Given the description of an element on the screen output the (x, y) to click on. 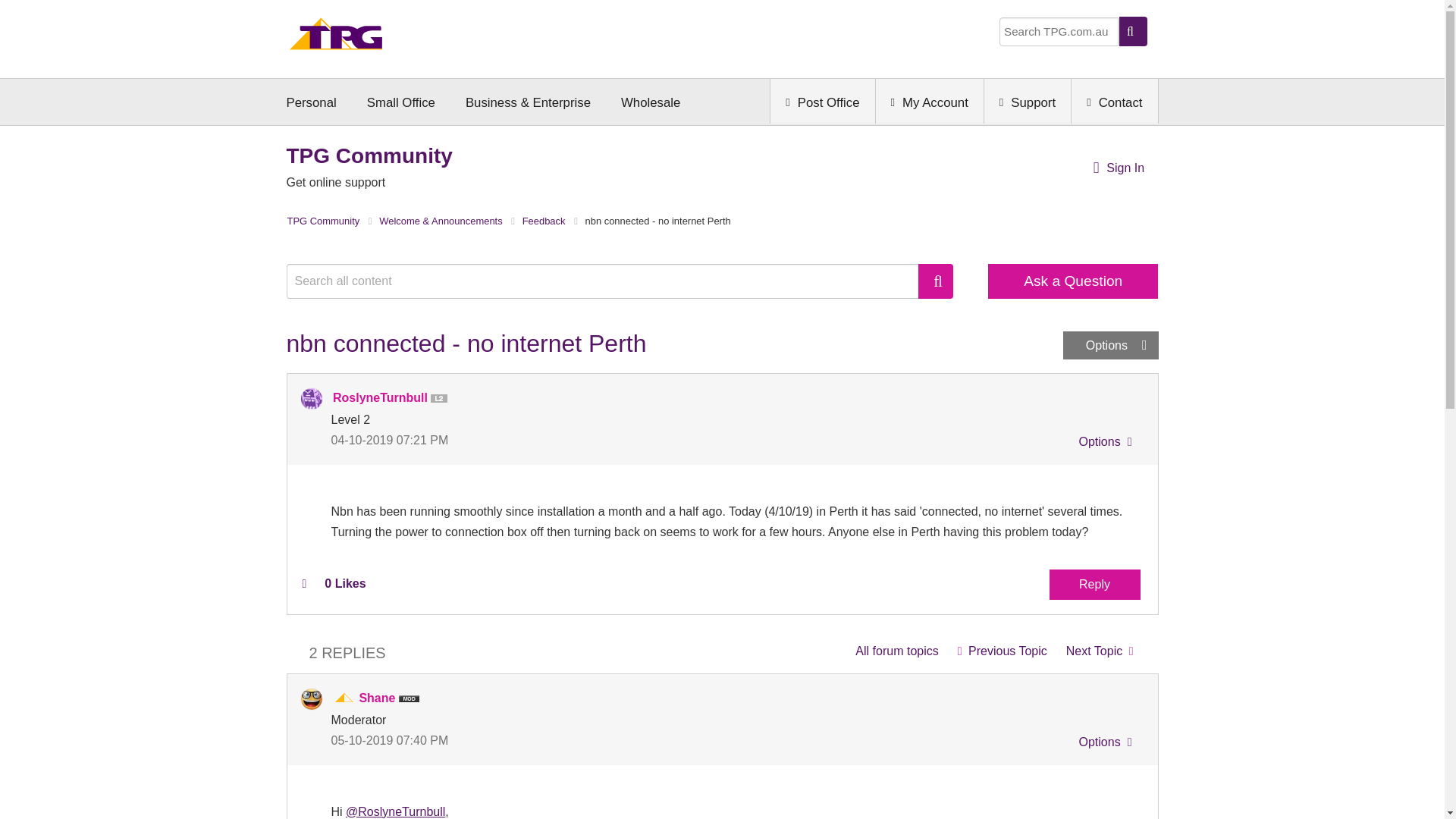
Search (935, 280)
Show option menu (1110, 345)
Level 2 (441, 398)
Posted on (526, 439)
Search (935, 280)
The total number of kudos this post has received. (344, 583)
Shane (310, 699)
E-Mail Account needs updating (1002, 650)
Moderator (344, 698)
Home (335, 38)
